Given the description of an element on the screen output the (x, y) to click on. 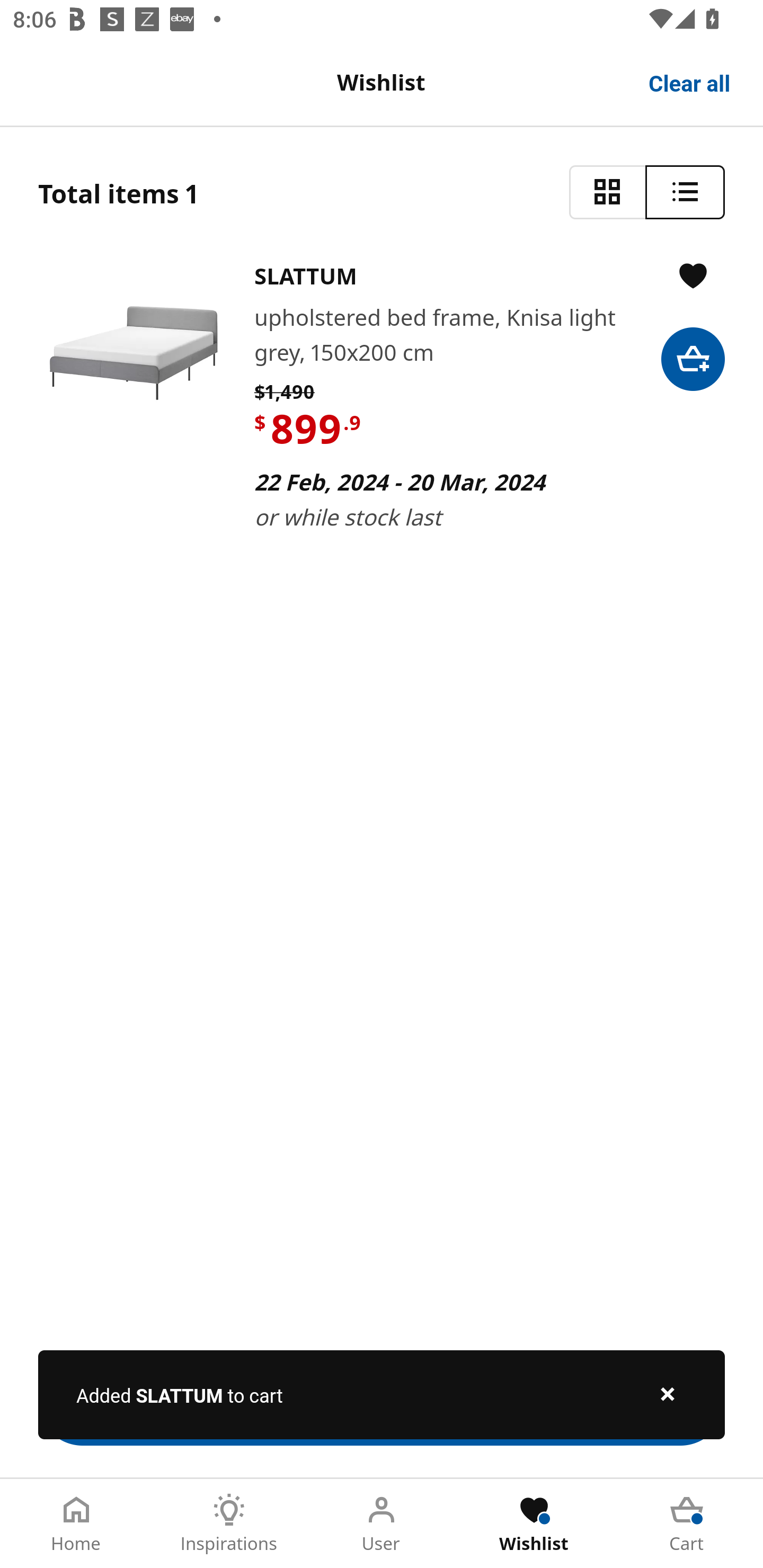
Clear all (689, 81)
Added SLATTUM to cart (381, 1394)
Home
Tab 1 of 5 (76, 1522)
Inspirations
Tab 2 of 5 (228, 1522)
User
Tab 3 of 5 (381, 1522)
Wishlist
Tab 4 of 5 (533, 1522)
Cart
Tab 5 of 5 (686, 1522)
